Given the description of an element on the screen output the (x, y) to click on. 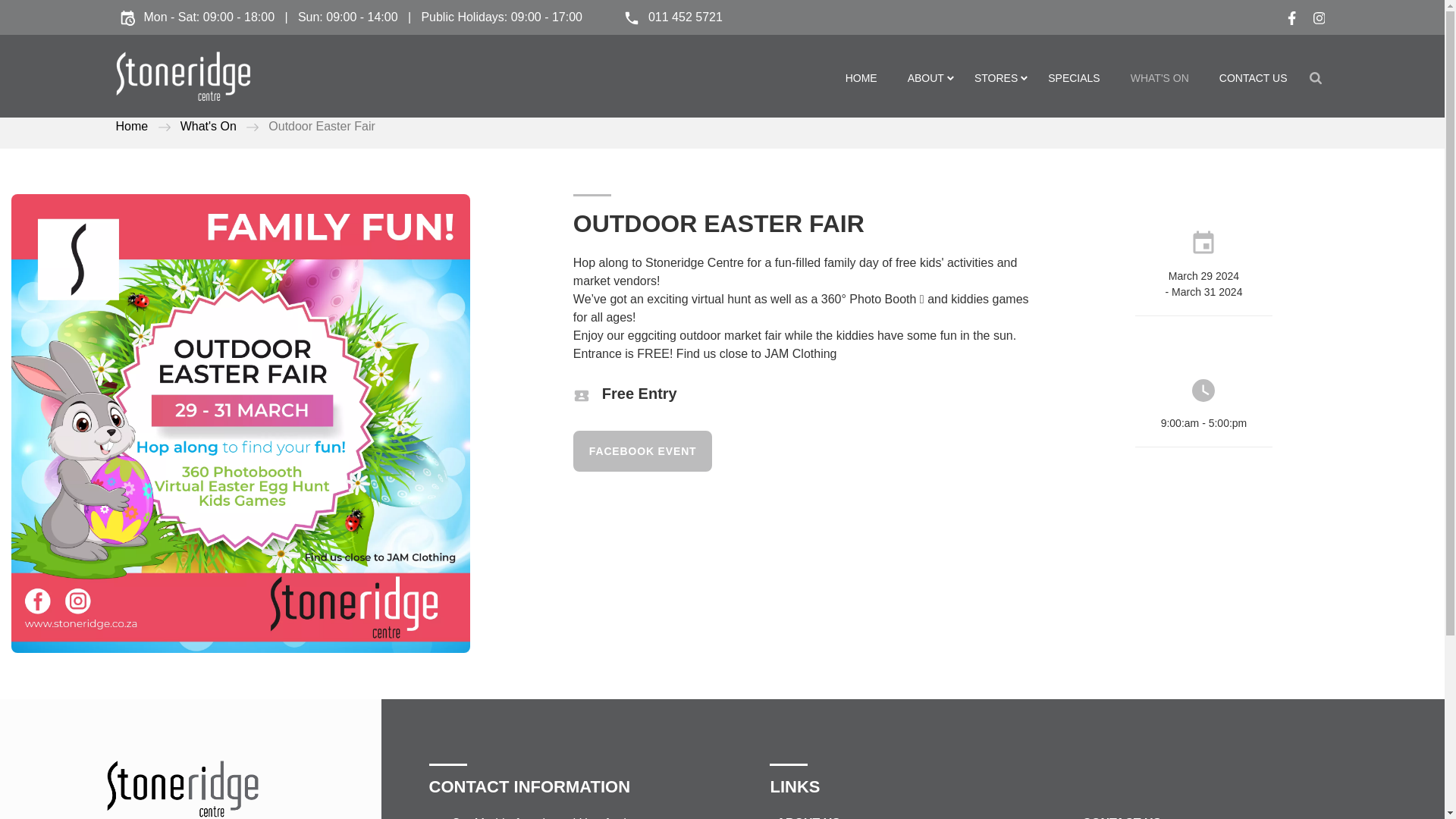
FACEBOOK EVENT (643, 450)
SPECIALS (1073, 76)
What'S On (207, 125)
CONTACT US (1112, 817)
011 452 5721 (668, 18)
ABOUT US (799, 817)
STORES (995, 76)
WHAT'S ON (1160, 76)
Home (131, 125)
CONTACT US (1253, 76)
HOME (861, 76)
ABOUT (925, 76)
